Given the description of an element on the screen output the (x, y) to click on. 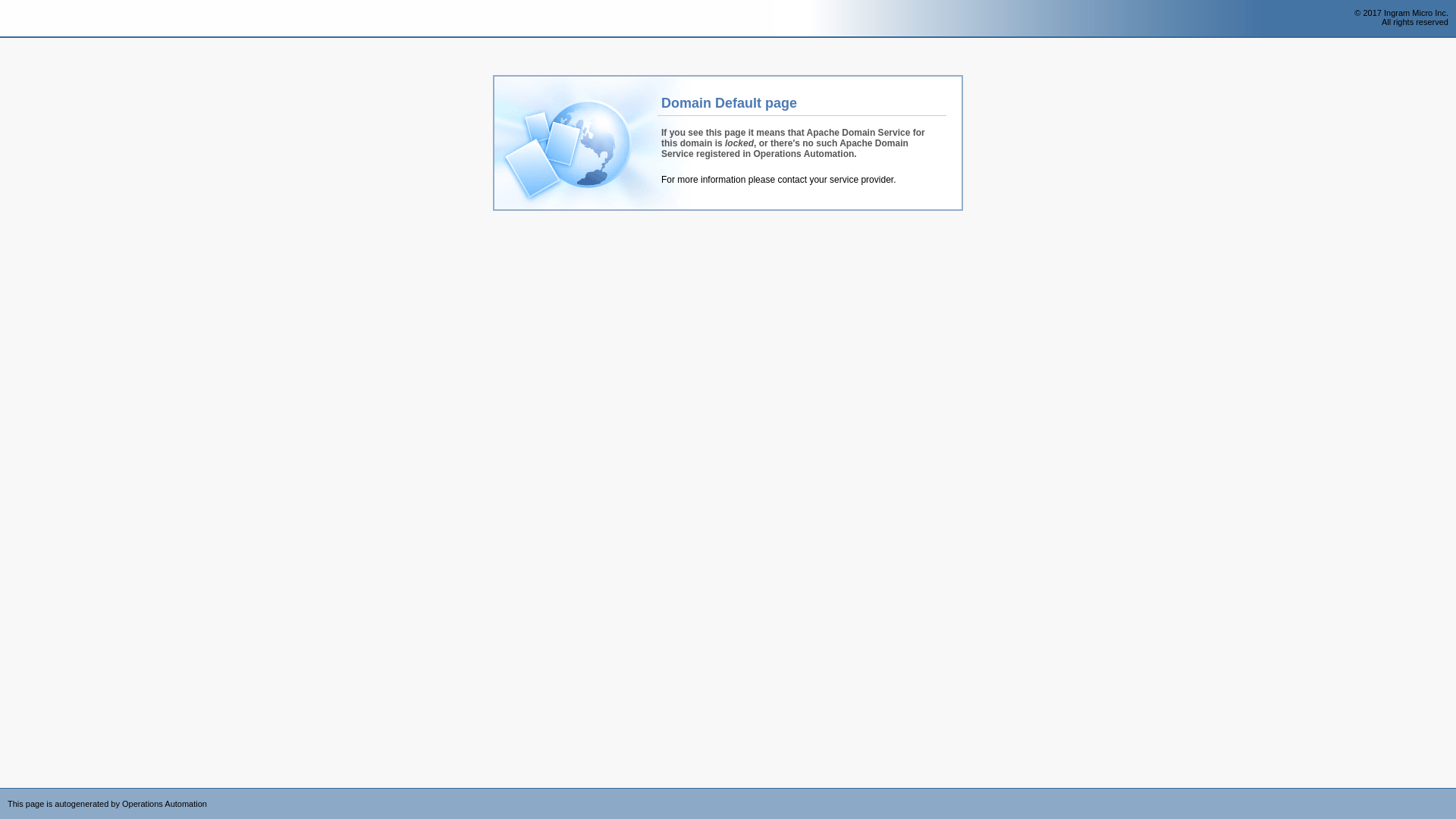
Operations Automation Element type: text (39, 18)
Powered by CloudBlue Commerce Element type: hover (1447, 792)
